Given the description of an element on the screen output the (x, y) to click on. 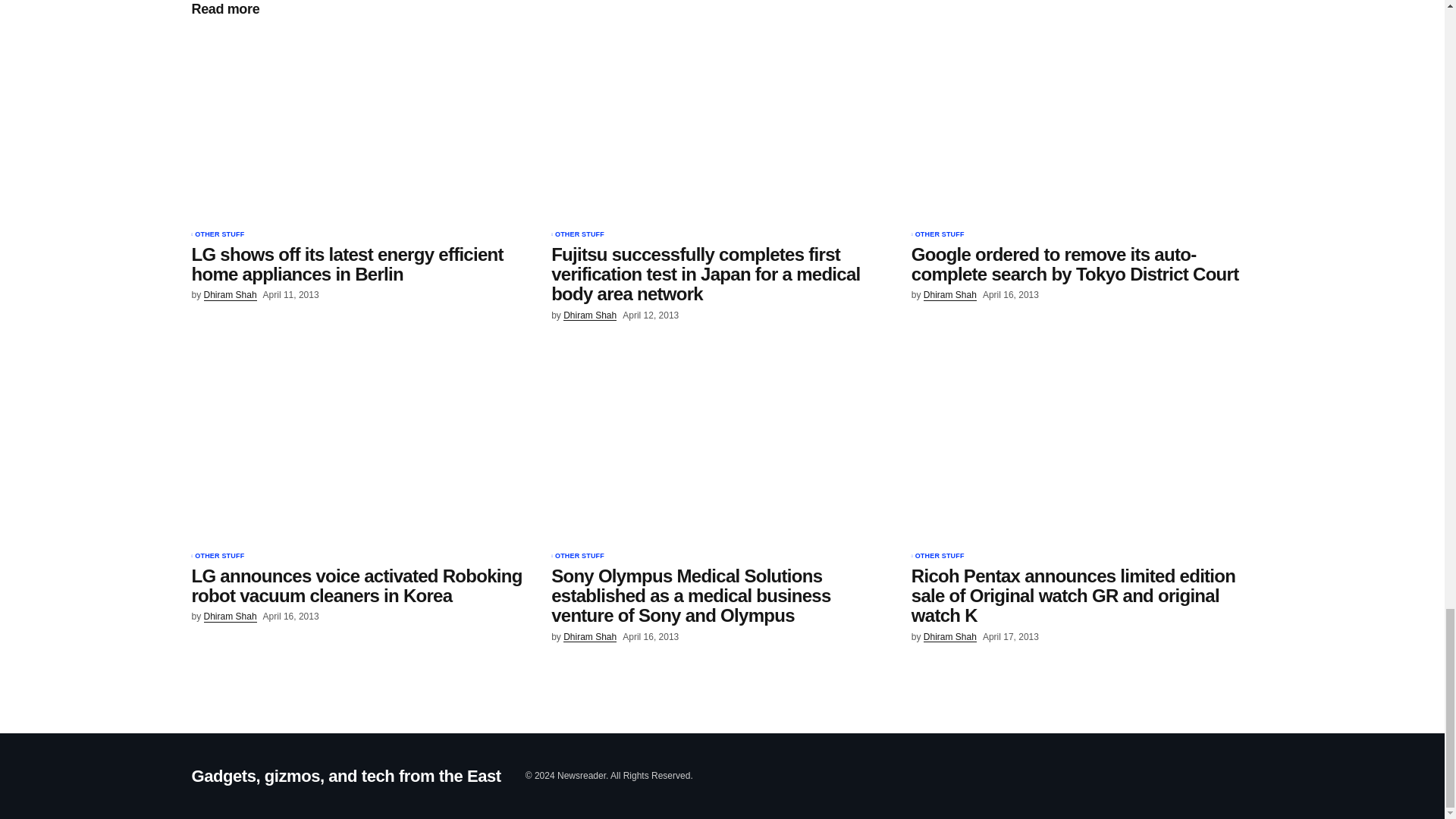
OTHER STUFF (579, 234)
Dhiram Shah (949, 295)
Dhiram Shah (230, 295)
OTHER STUFF (219, 556)
